Given the description of an element on the screen output the (x, y) to click on. 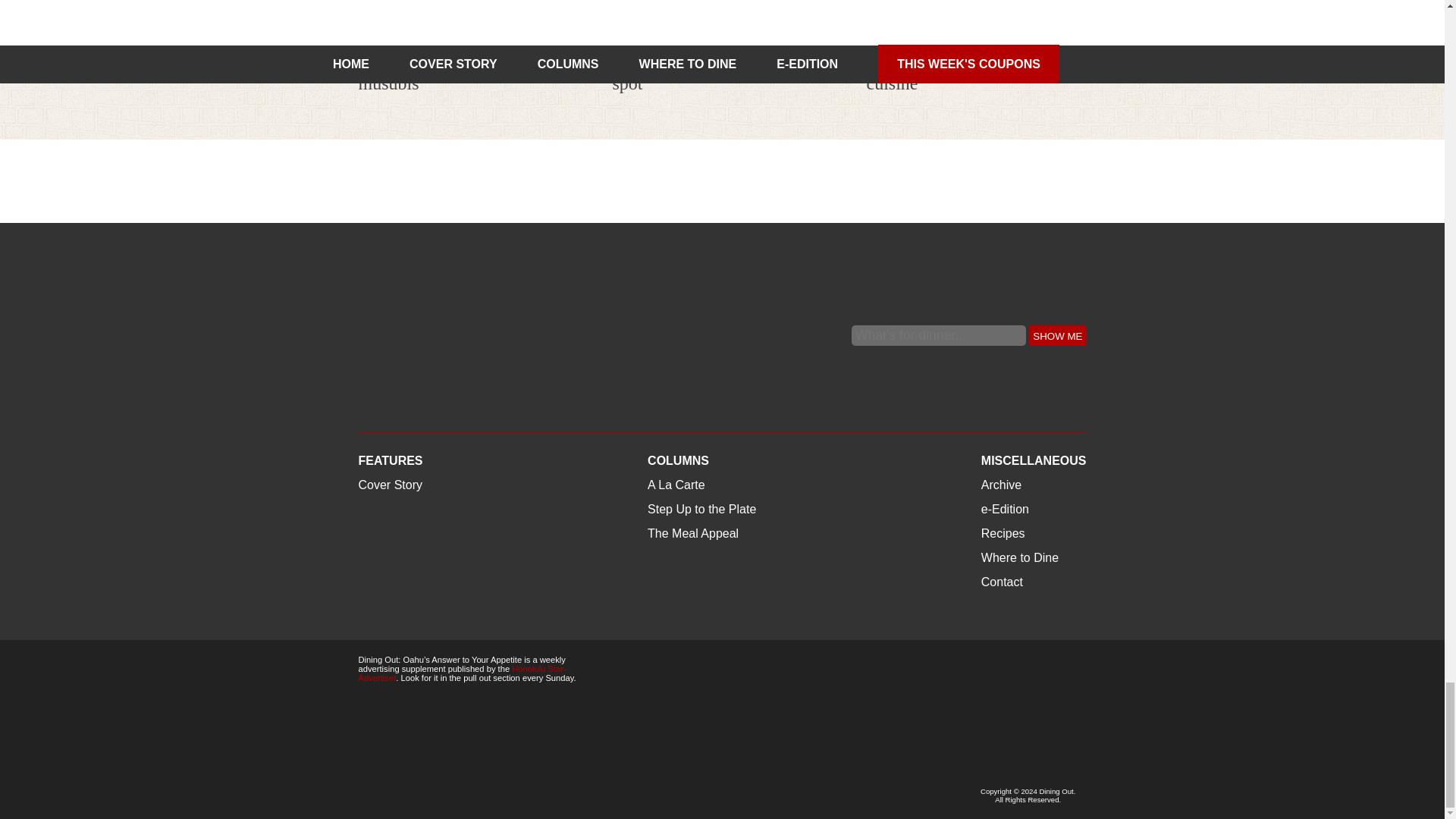
A La Carte (386, 38)
Mouthwatering meals, free musubis (456, 73)
A La Carte (894, 38)
Check out this hot pot hot spot (722, 24)
A La Carte (640, 38)
Check out this hot pot hot spot (707, 73)
Restaurant boasts tasty cuisine (976, 24)
A La Carte (386, 38)
Check out this hot pot hot spot (707, 73)
Mouthwatering meals, free musubis (468, 24)
